Given the description of an element on the screen output the (x, y) to click on. 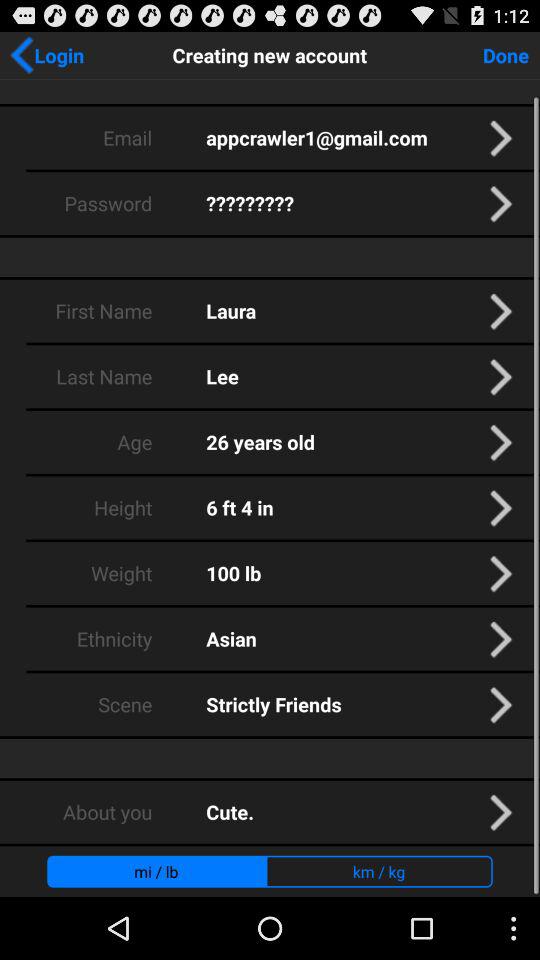
click item next to km / kg (156, 871)
